Given the description of an element on the screen output the (x, y) to click on. 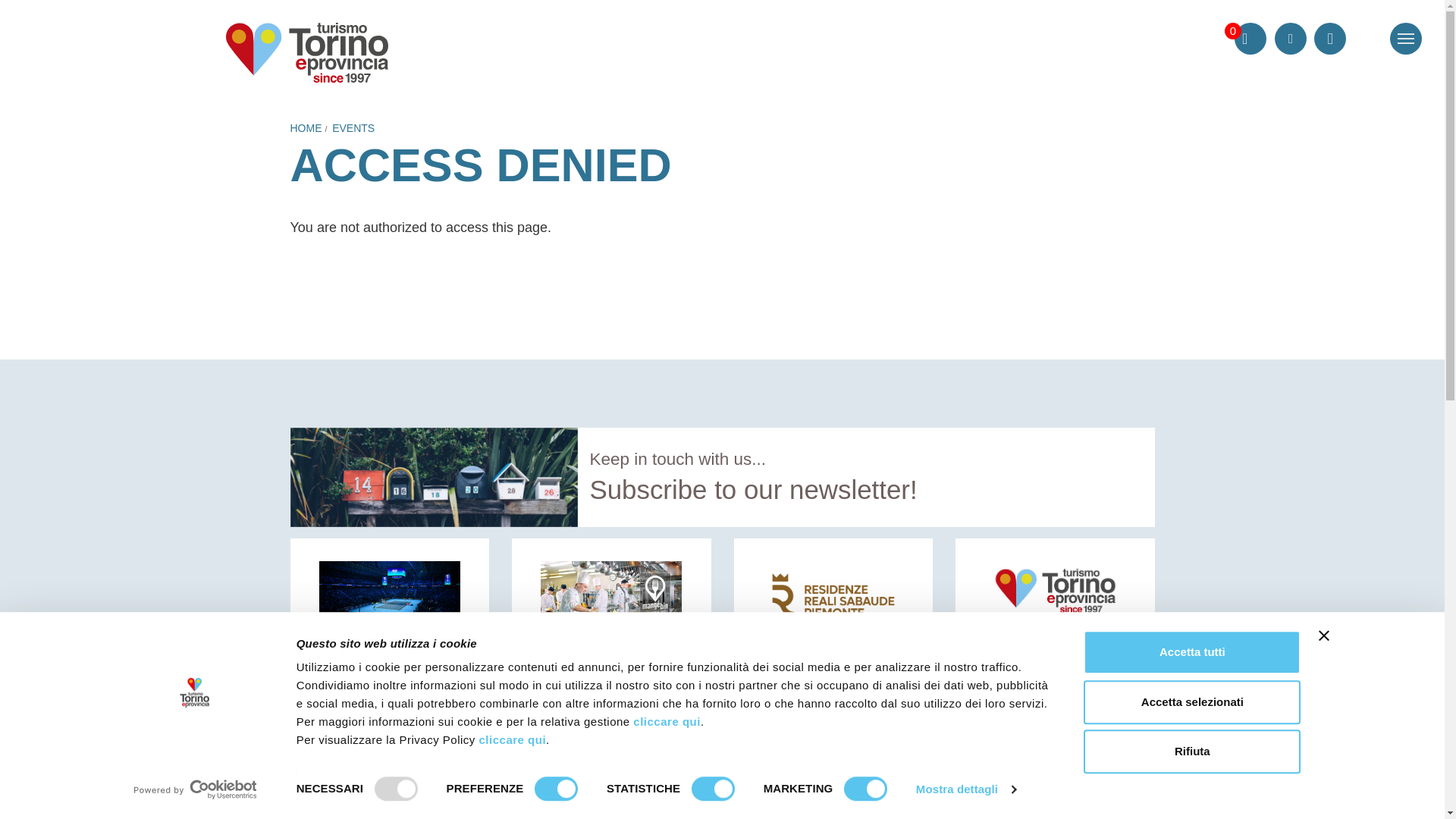
Home (306, 52)
Rifiuta (1191, 751)
cliccare qui (666, 721)
Mostra dettagli (965, 789)
cliccare qui (513, 739)
